Given the description of an element on the screen output the (x, y) to click on. 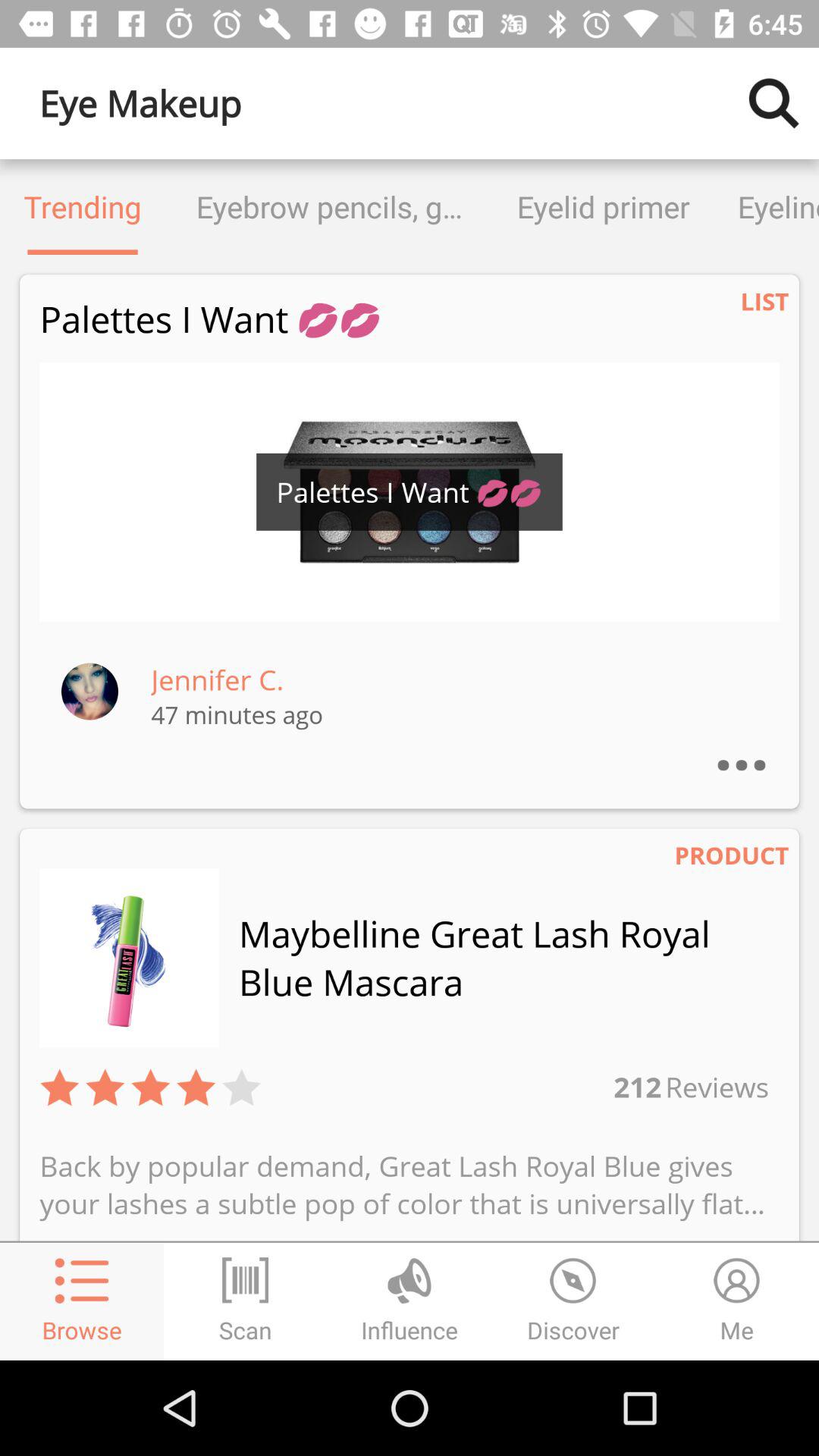
search (773, 103)
